Given the description of an element on the screen output the (x, y) to click on. 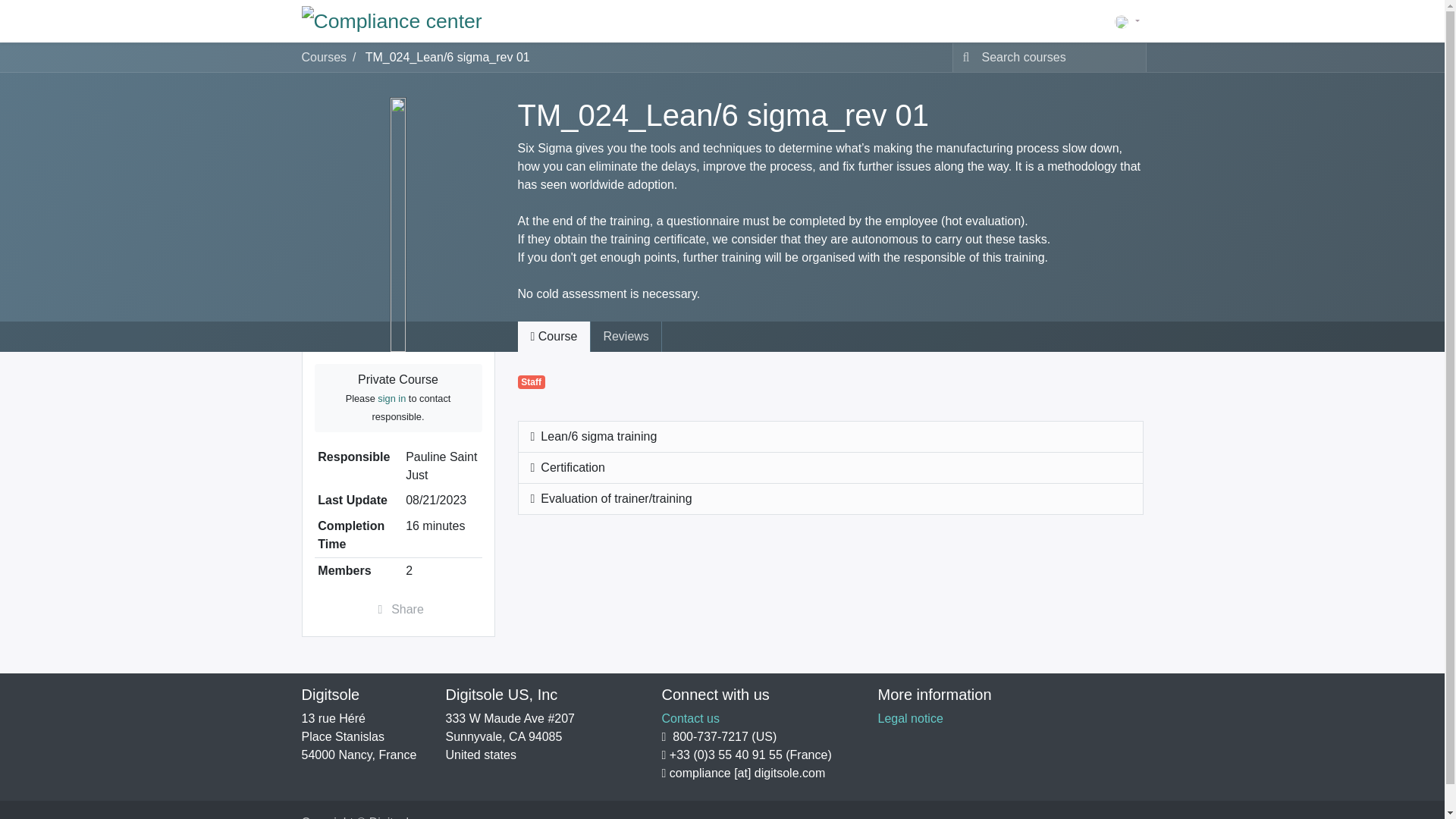
Reviews (625, 336)
Course (552, 336)
Courses (324, 56)
Contact us (690, 717)
sign in (391, 398)
Share (397, 609)
Share Channel (397, 609)
Legal notice (910, 717)
Compliance center (391, 20)
Search (963, 57)
